Given the description of an element on the screen output the (x, y) to click on. 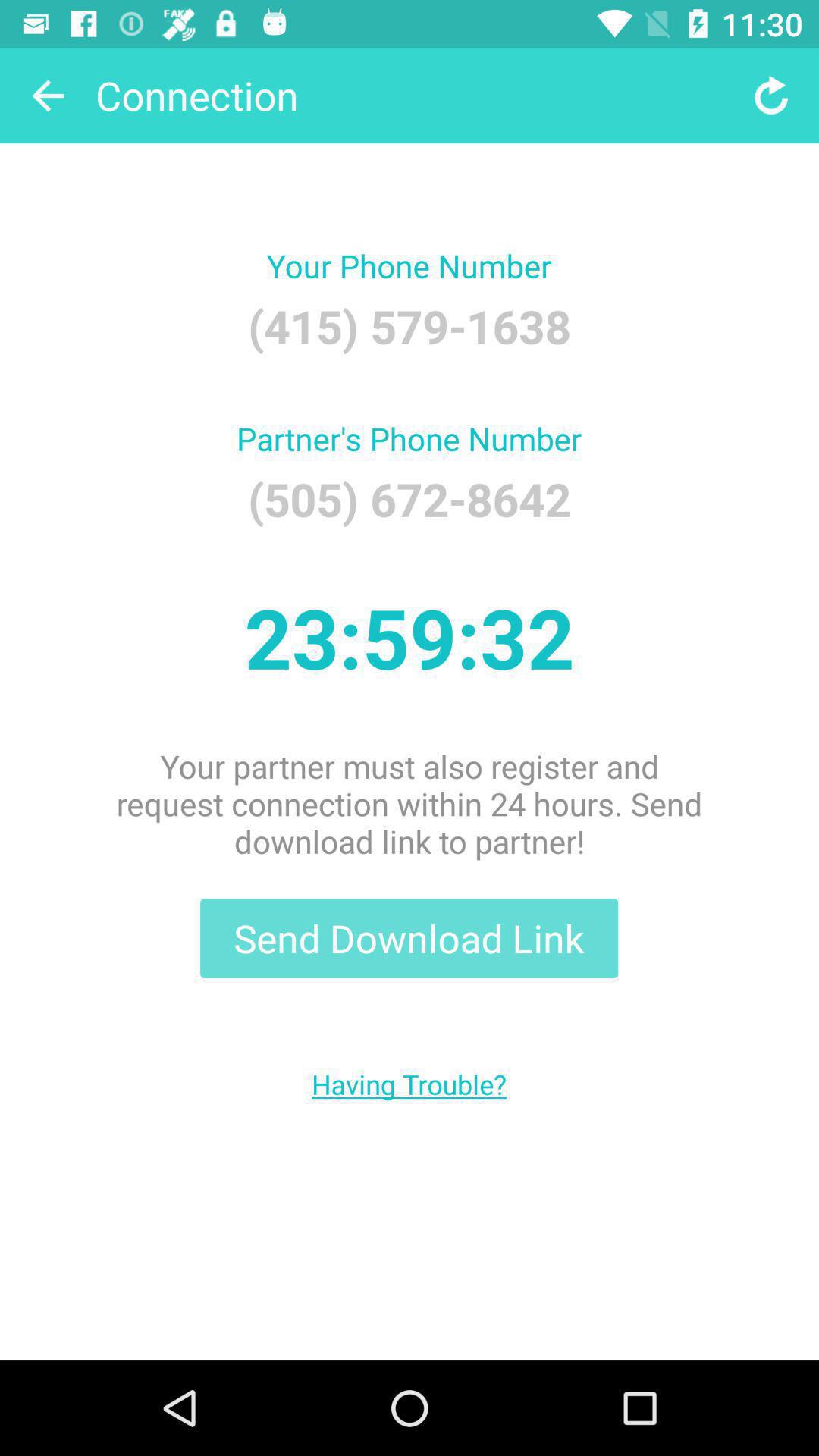
select item at the top right corner (771, 95)
